Given the description of an element on the screen output the (x, y) to click on. 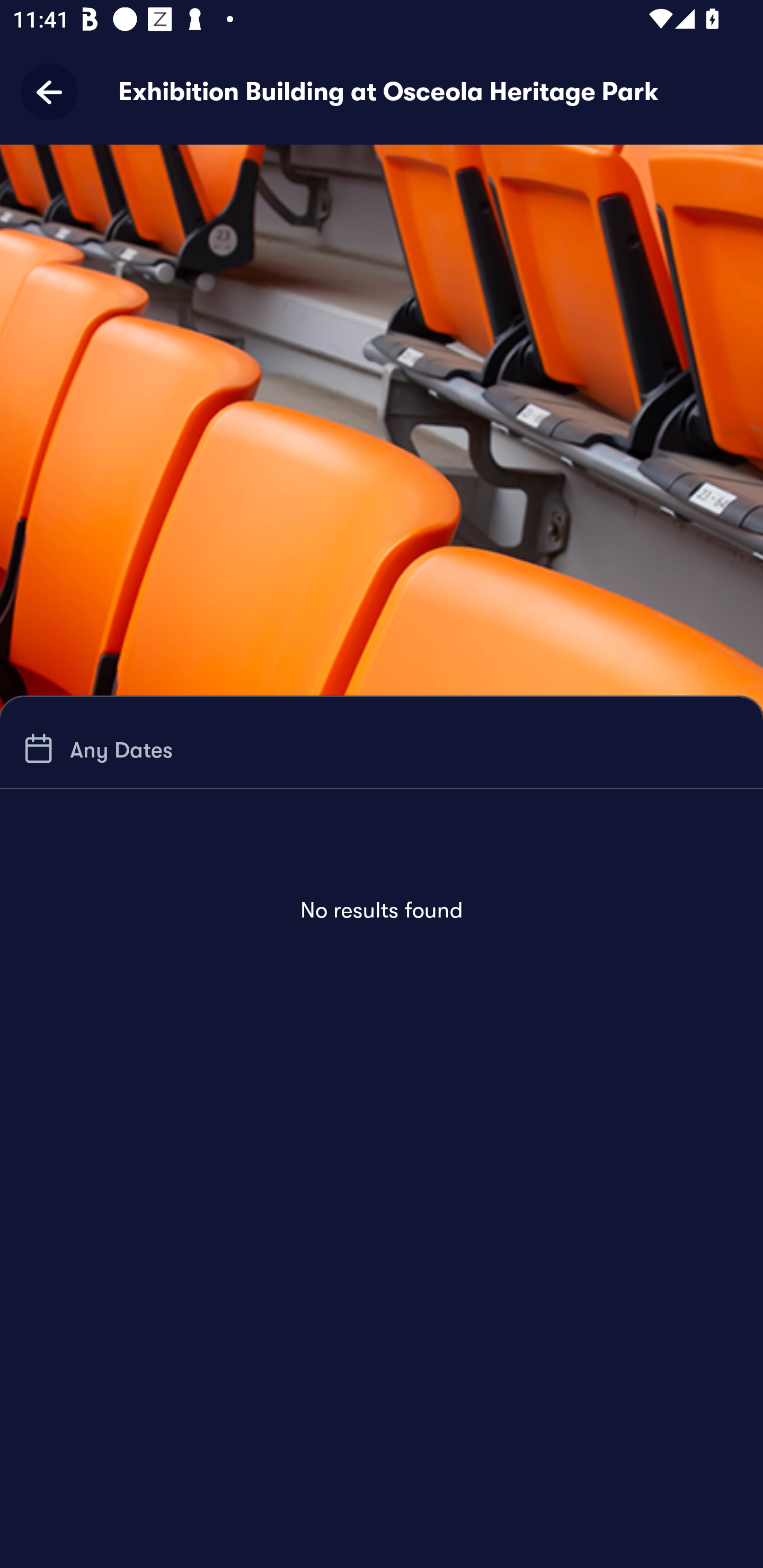
Any Dates (95, 749)
